Given the description of an element on the screen output the (x, y) to click on. 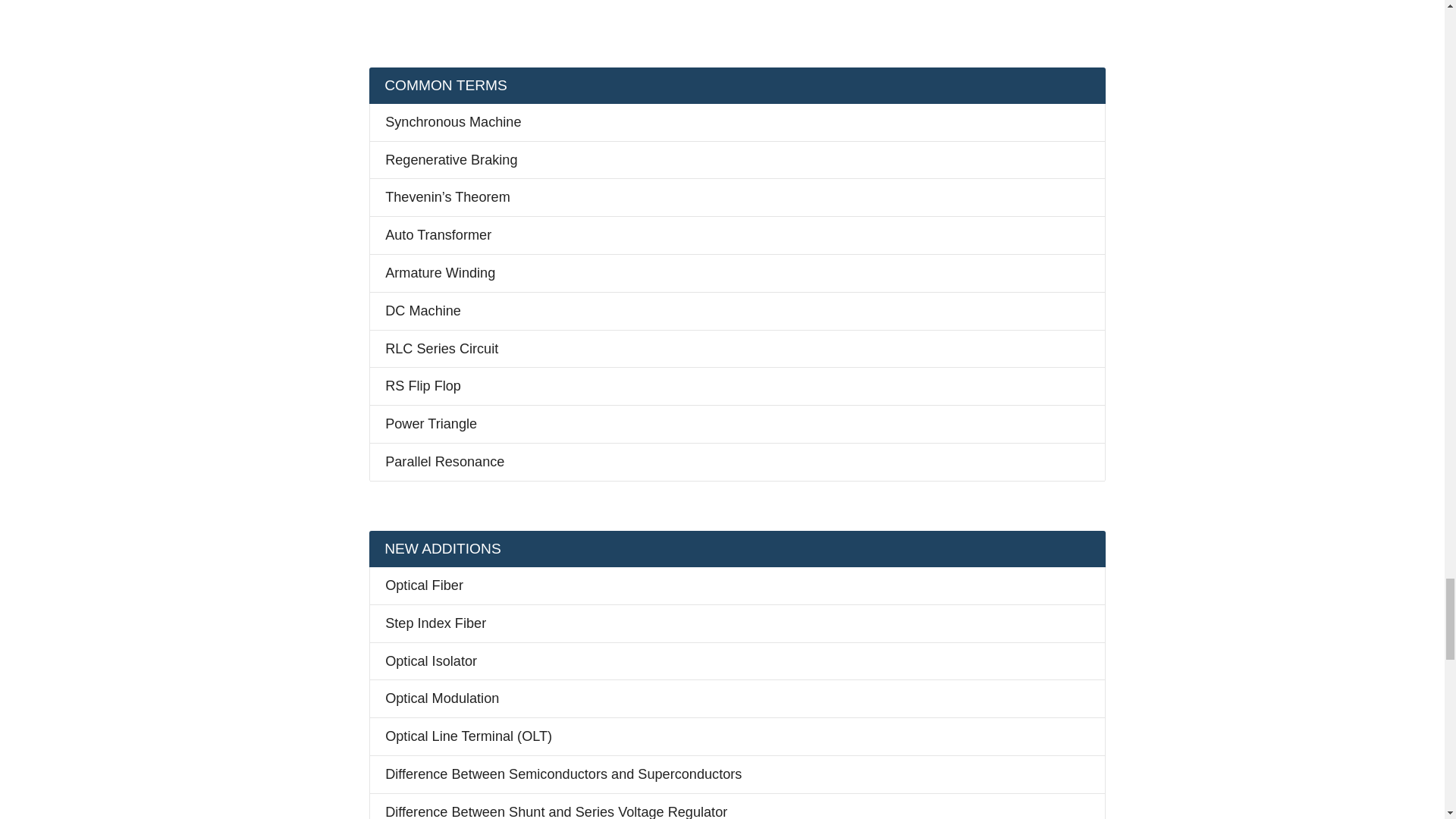
Advertisement (737, 12)
